Given the description of an element on the screen output the (x, y) to click on. 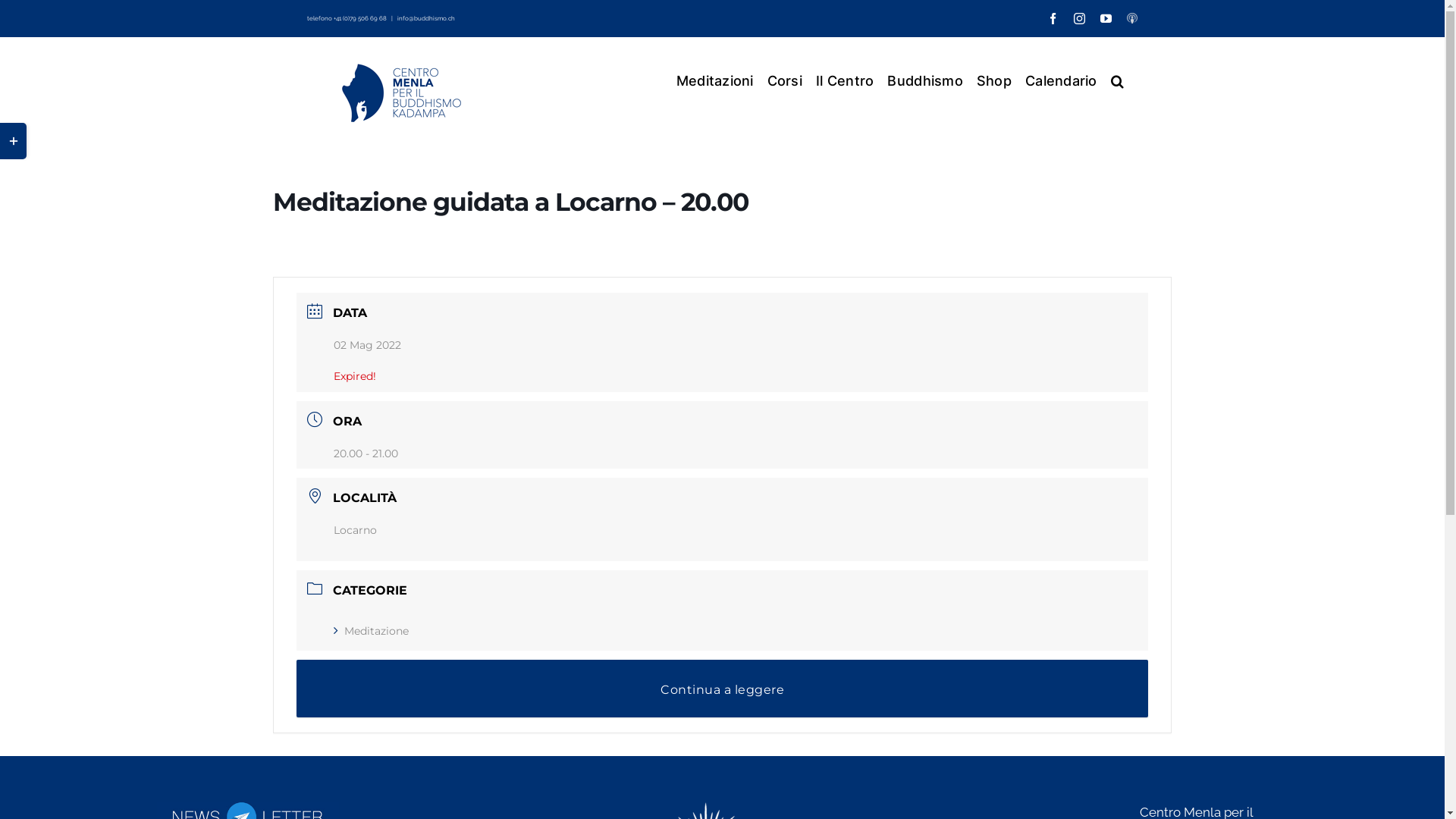
YouTube Element type: text (1105, 17)
Toggle area barra scorrevole Element type: text (13, 140)
Instagram Element type: text (1079, 17)
Meditazione Element type: text (370, 630)
Facebook Element type: text (1052, 17)
info@buddhismo.ch Element type: text (426, 17)
Buddhismo Element type: text (924, 80)
Cerca Element type: hover (1116, 80)
Shop Element type: text (993, 80)
Continua a leggere Element type: text (722, 688)
Kadampa Podcast Element type: text (1131, 17)
Corsi Element type: text (784, 80)
Calendario Element type: text (1061, 80)
Meditazioni Element type: text (714, 80)
Il Centro Element type: text (844, 80)
